Given the description of an element on the screen output the (x, y) to click on. 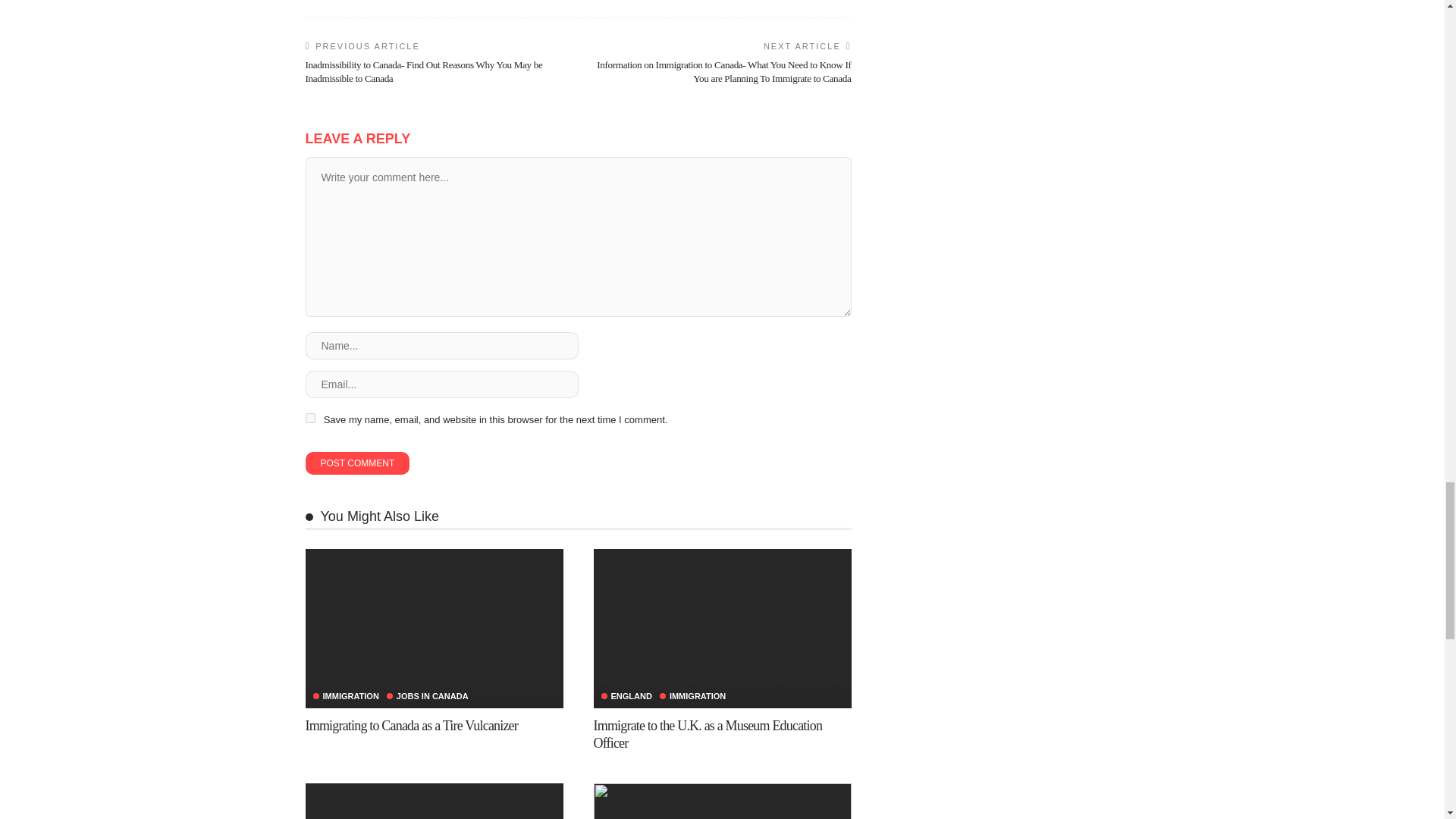
Post Comment (356, 463)
Post Comment (356, 463)
JOBS IN CANADA (427, 696)
IMMIGRATION (345, 696)
yes (309, 418)
